Given the description of an element on the screen output the (x, y) to click on. 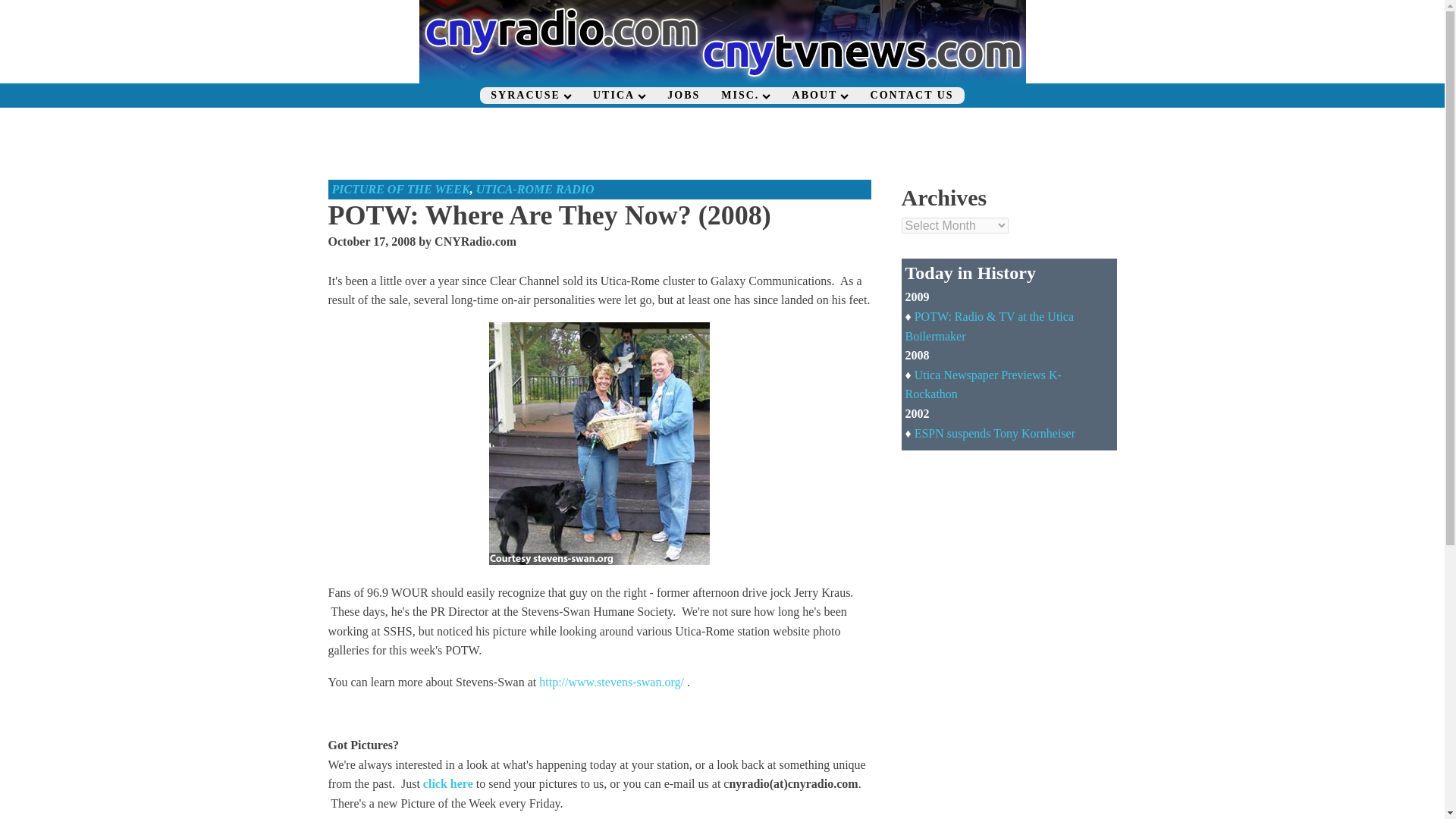
CONTACT US (911, 95)
ABOUT (820, 95)
MISC. (745, 95)
click here (448, 783)
JOBS (683, 95)
UTICA (619, 95)
UTICA-ROME RADIO (535, 188)
SYRACUSE (531, 95)
PICTURE OF THE WEEK (400, 188)
